Given the description of an element on the screen output the (x, y) to click on. 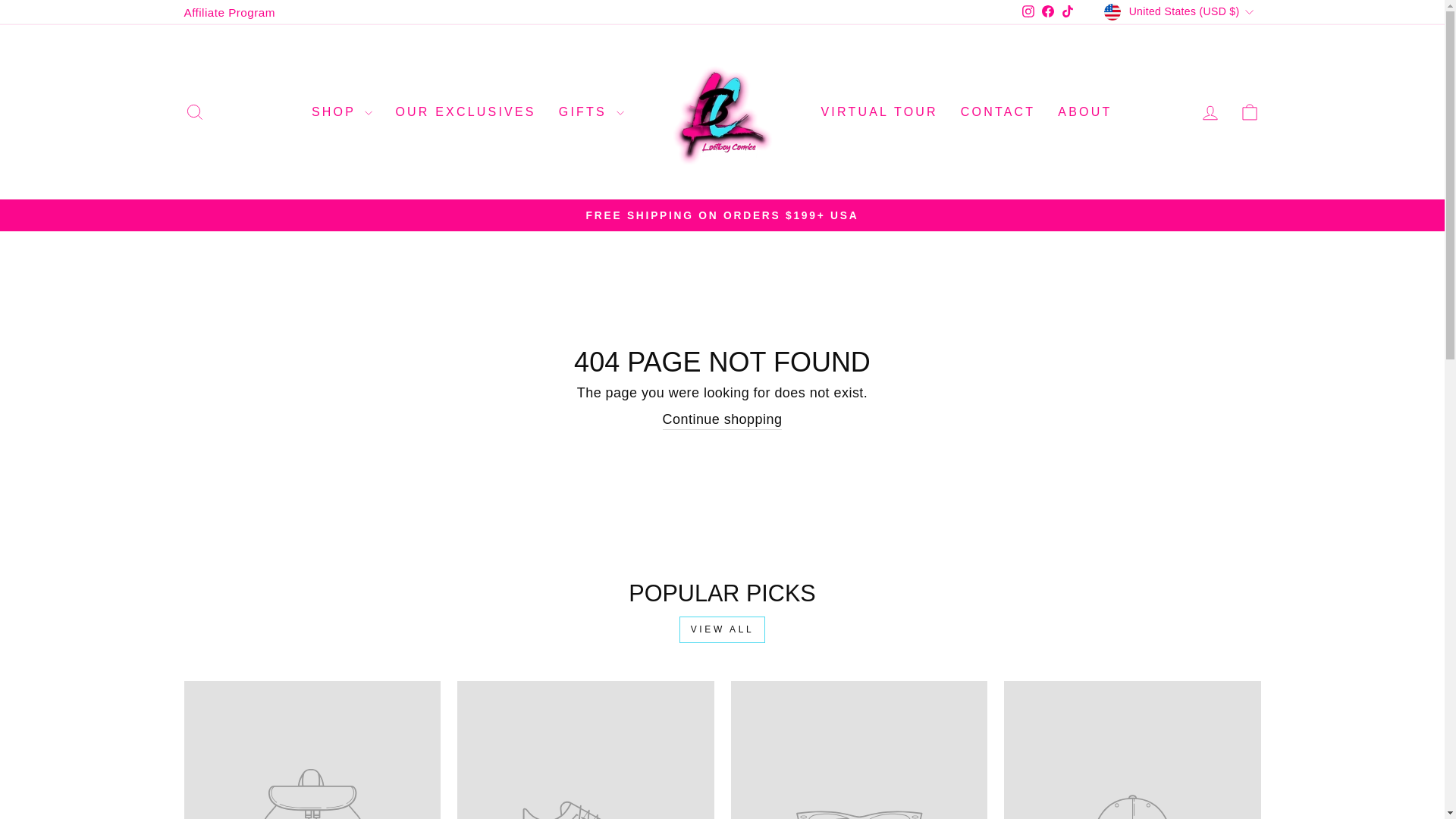
instagram (1027, 10)
ACCOUNT (1210, 112)
Affiliate Program (229, 11)
ICON-SEARCH (194, 111)
ICON-BAG-MINIMAL (1249, 111)
